Given the description of an element on the screen output the (x, y) to click on. 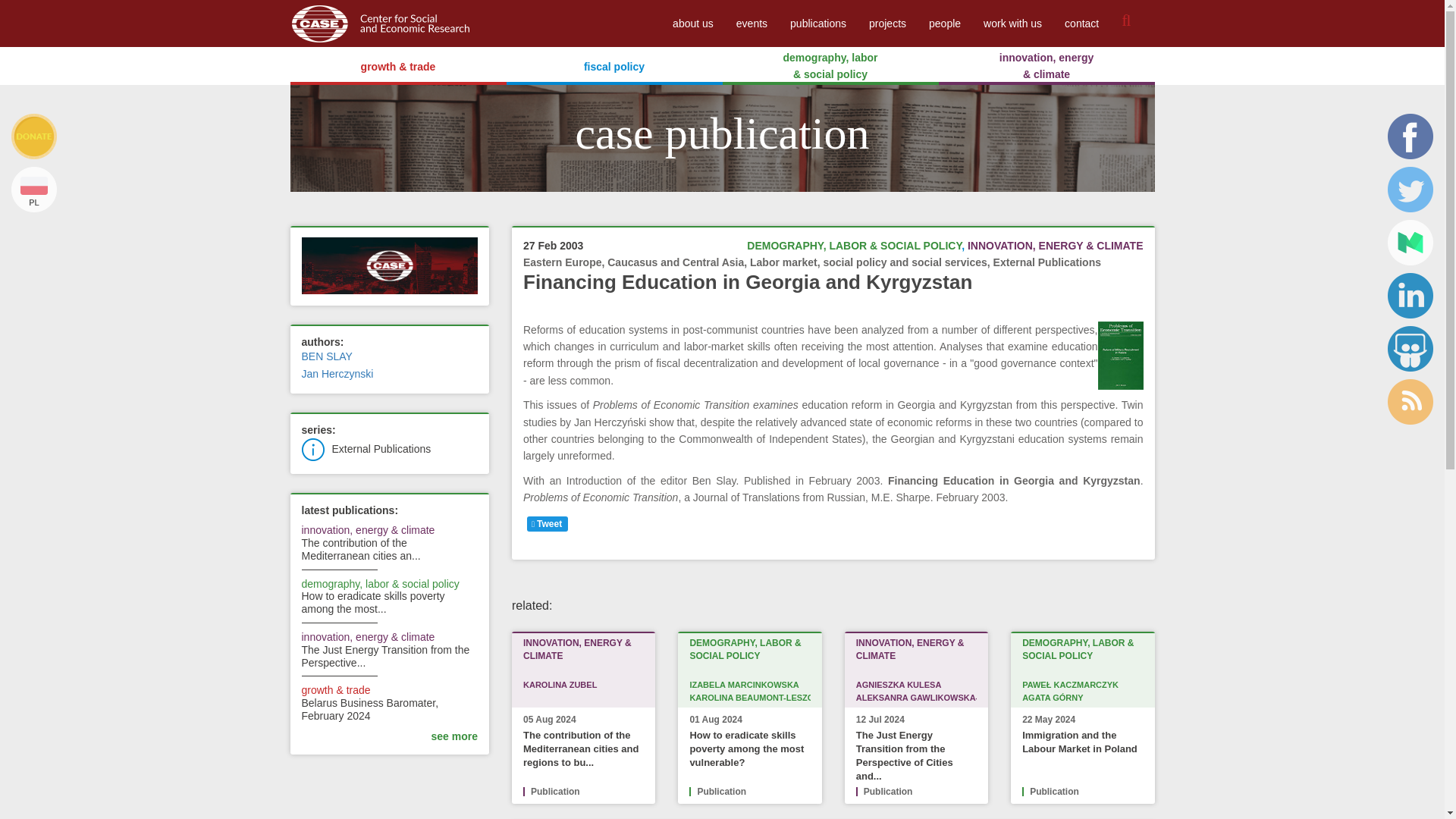
Belarus Business Baromater, February 2024 (370, 708)
How to eradicate skills poverty among the most vulnerable? (373, 602)
The Just Energy Transition from the Perspective... (385, 656)
How to eradicate skills poverty among the most vulnerable? (745, 748)
BEN SLAY (326, 356)
KAROLINA ZUBEL (559, 684)
publications (817, 22)
contact (1080, 22)
IZABELA MARCINKOWSKA (742, 684)
about us (693, 22)
